Given the description of an element on the screen output the (x, y) to click on. 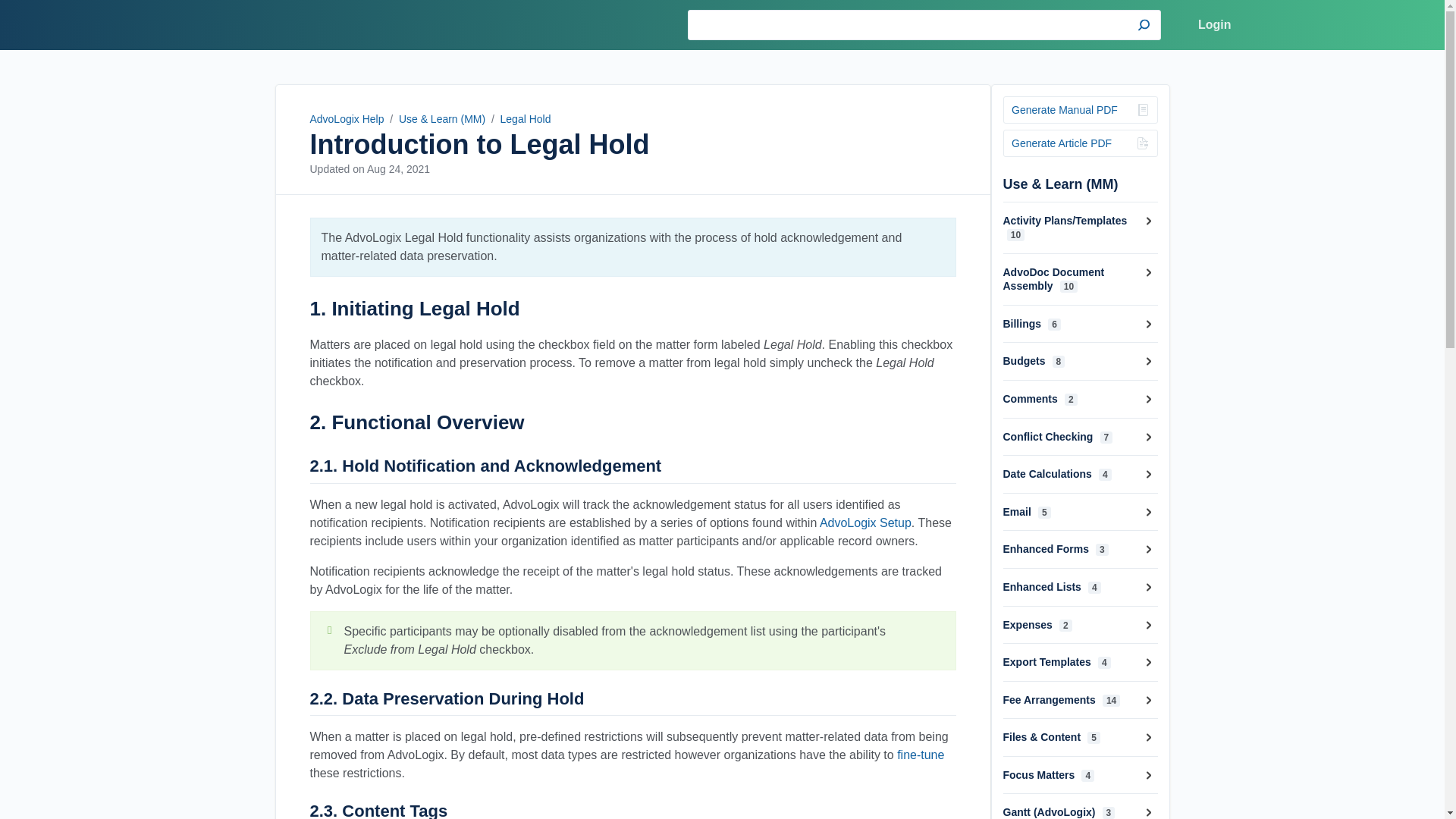
fine-tune (919, 754)
Generate Article PDF (1080, 143)
Generate Manual PDF (1080, 109)
AdvoLogix Help (285, 24)
Login (1215, 25)
AdvoLogix Help (285, 24)
AdvoLogix Setup (865, 521)
August 24, 2021 at 6:14am  (397, 168)
Legal Hold (525, 119)
AdvoLogix Help (346, 119)
